Given the description of an element on the screen output the (x, y) to click on. 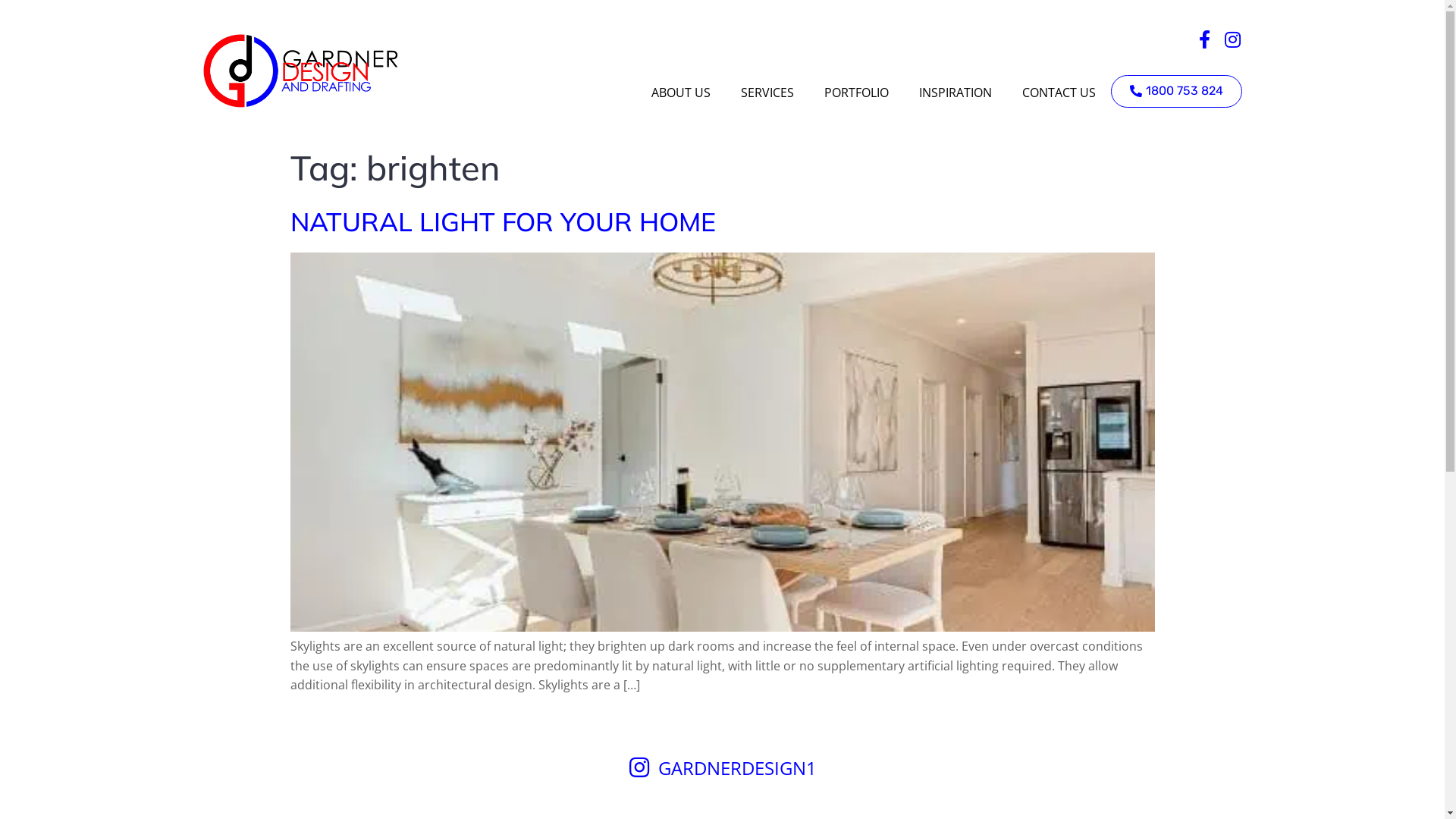
ABOUT US Element type: text (679, 92)
GARDNERDESIGN1 Element type: text (737, 767)
CONTACT US Element type: text (1058, 92)
1800 753 824 Element type: text (1175, 91)
INSPIRATION Element type: text (955, 92)
PORTFOLIO Element type: text (855, 92)
SERVICES Element type: text (766, 92)
NATURAL LIGHT FOR YOUR HOME Element type: text (502, 221)
